Given the description of an element on the screen output the (x, y) to click on. 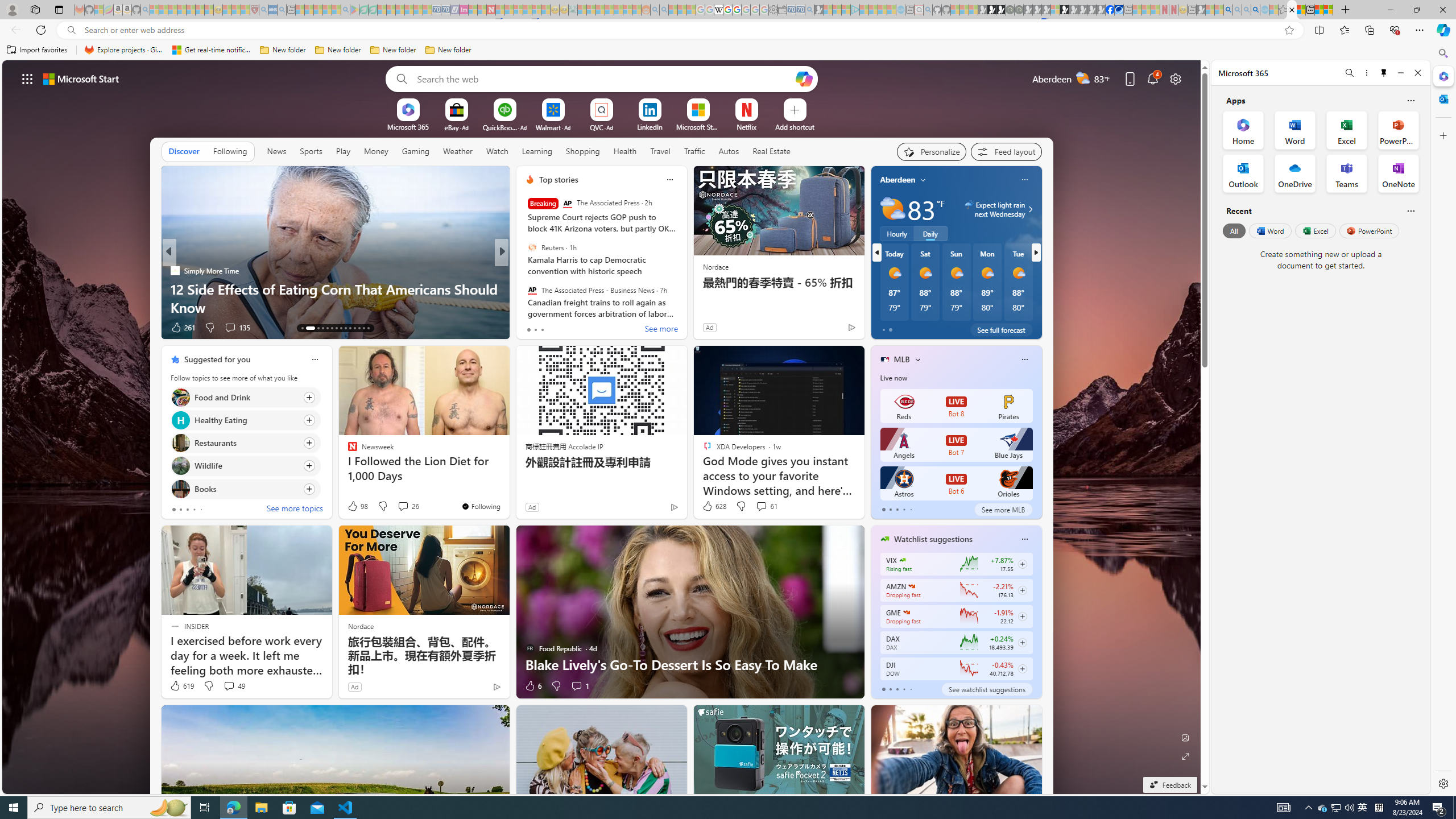
Settings - Sleeping (773, 9)
View comments 2 Comment (580, 327)
Play (342, 151)
View comments 308 Comment (232, 327)
AutomationID: tab-16 (322, 328)
MSNBC - MSN - Sleeping (581, 9)
All (1233, 230)
View comments 3 Comment (580, 327)
